Given the description of an element on the screen output the (x, y) to click on. 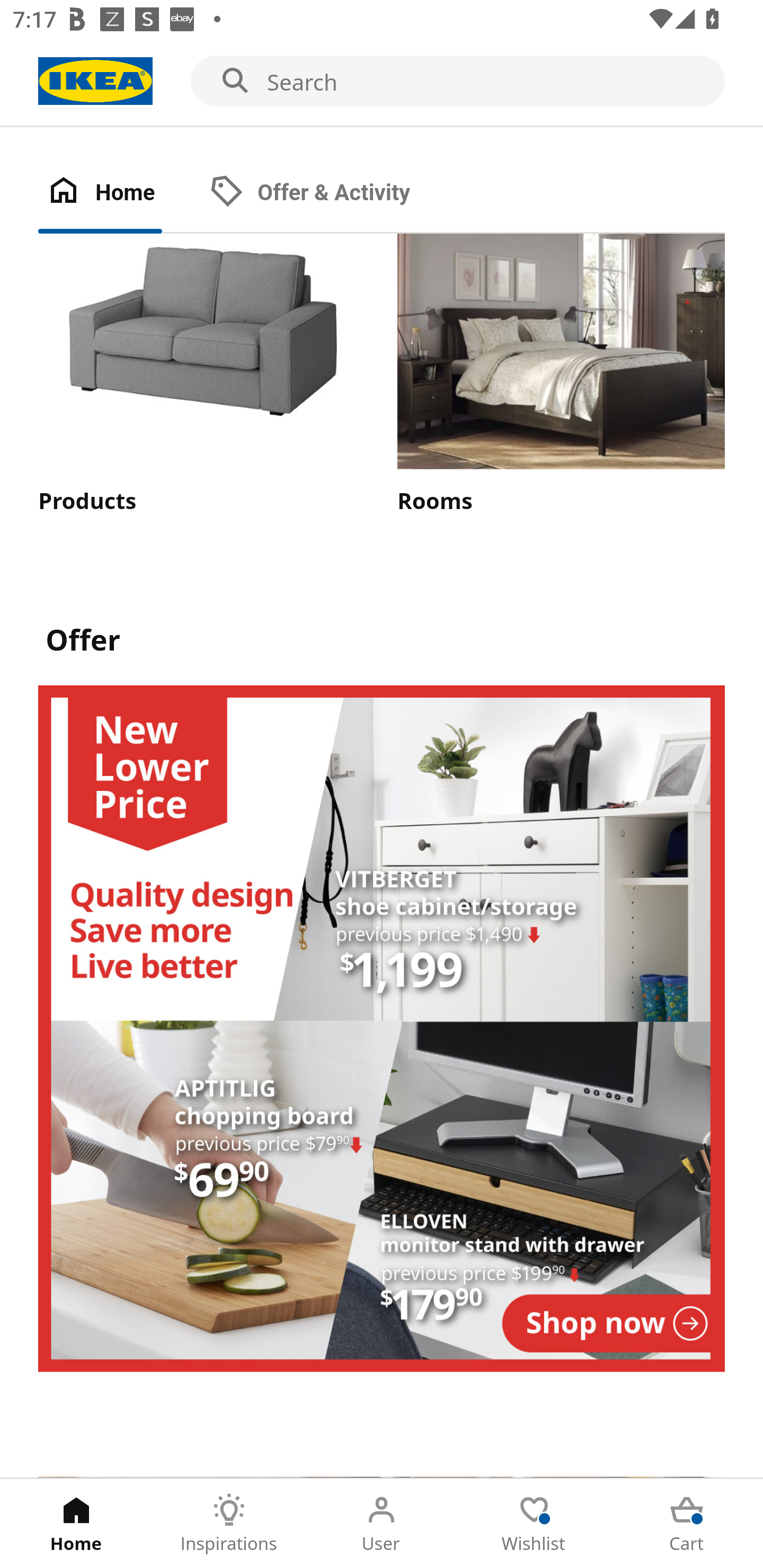
Search (381, 81)
Home
Tab 1 of 2 (118, 192)
Offer & Activity
Tab 2 of 2 (327, 192)
Products (201, 375)
Rooms (560, 375)
Home
Tab 1 of 5 (76, 1522)
Inspirations
Tab 2 of 5 (228, 1522)
User
Tab 3 of 5 (381, 1522)
Wishlist
Tab 4 of 5 (533, 1522)
Cart
Tab 5 of 5 (686, 1522)
